Given the description of an element on the screen output the (x, y) to click on. 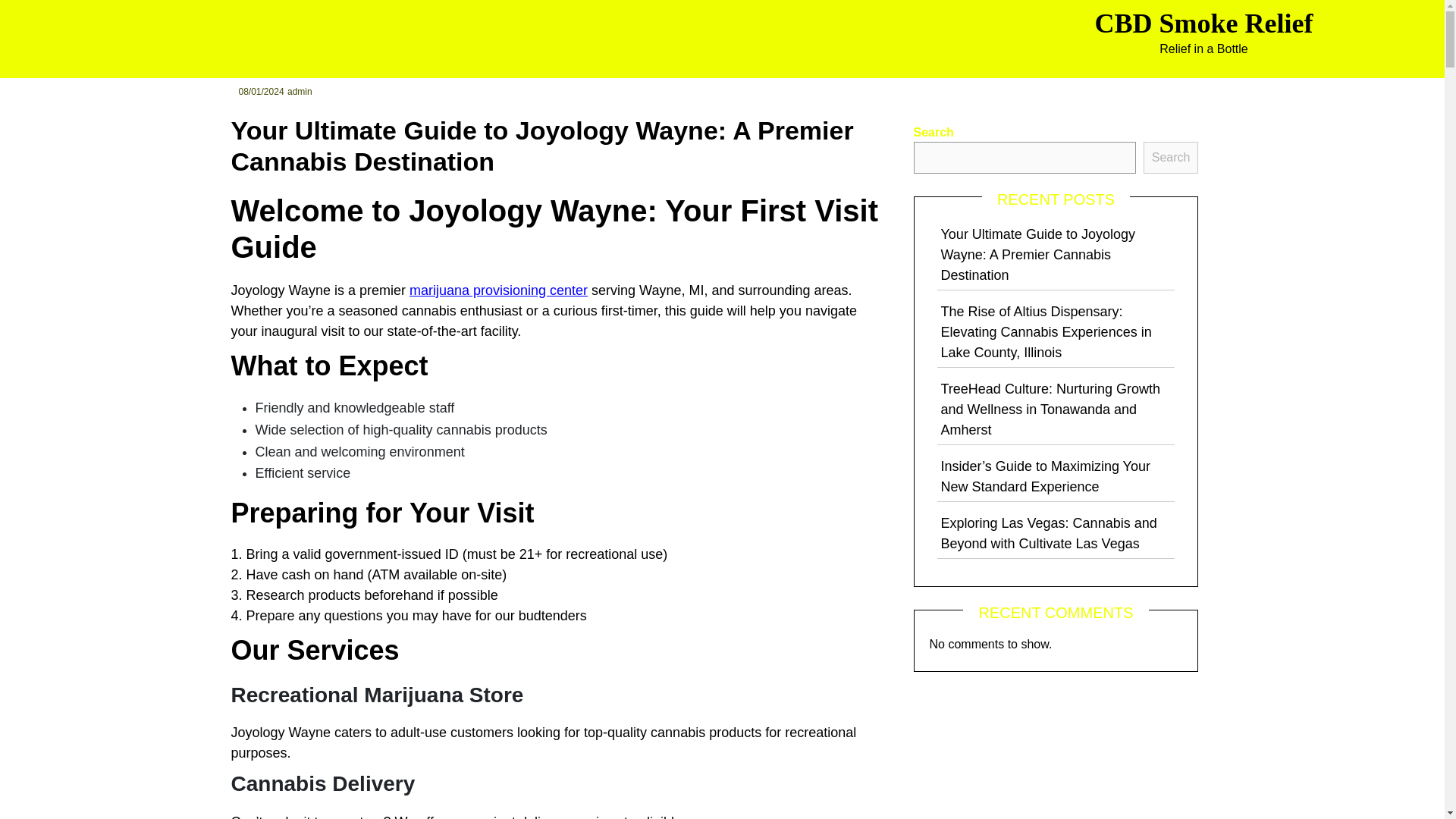
marijuana provisioning center (498, 290)
CBD Smoke Relief (1203, 23)
